Given the description of an element on the screen output the (x, y) to click on. 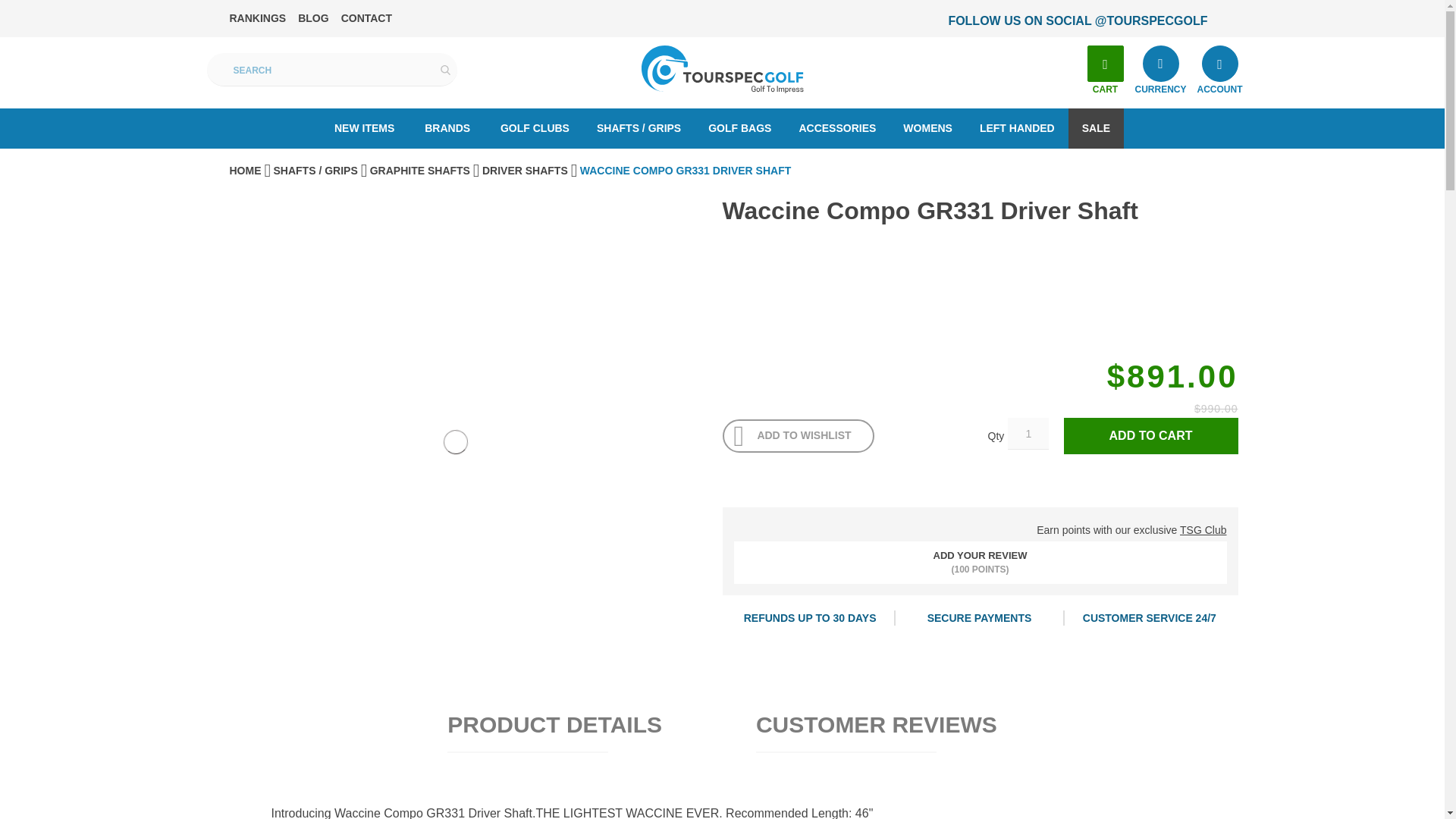
My Cart (1105, 63)
1 (1027, 433)
CONTACT (365, 18)
BRANDS (446, 128)
NEW ITEMS (363, 128)
BLOG (313, 18)
RANKINGS (256, 18)
Tourspecgolf - Golf to Impress (722, 69)
WE SHIP WORLDWIDE! (1037, 21)
